Given the description of an element on the screen output the (x, y) to click on. 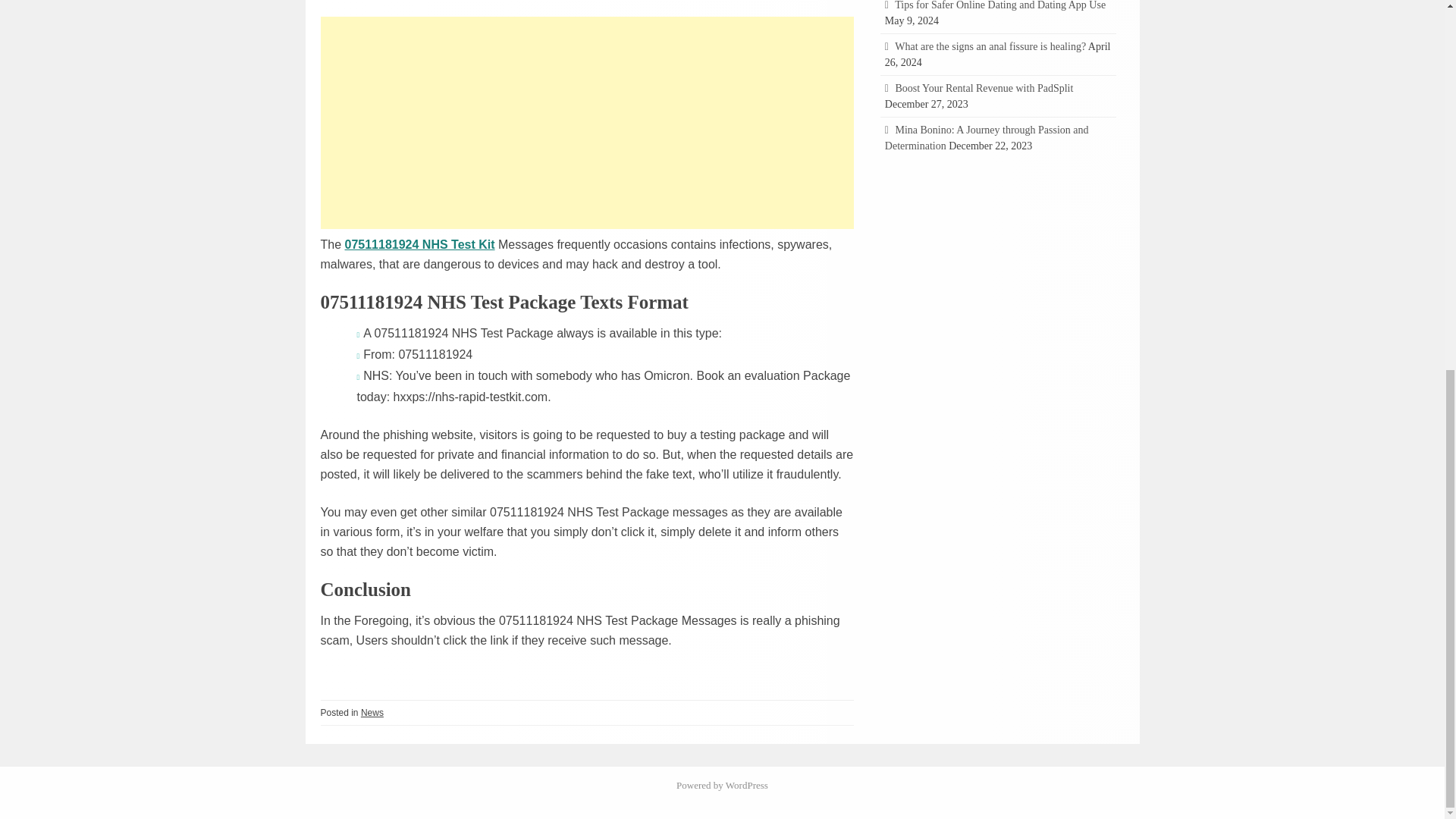
Tips for Safer Online Dating and Dating App Use (1000, 5)
News (372, 712)
07511181924 NHS Test Kit (420, 243)
Mina Bonino: A Journey through Passion and Determination (987, 137)
Advertisement (586, 121)
What are the signs an anal fissure is healing? (990, 46)
Boost Your Rental Revenue with PadSplit (984, 88)
